Given the description of an element on the screen output the (x, y) to click on. 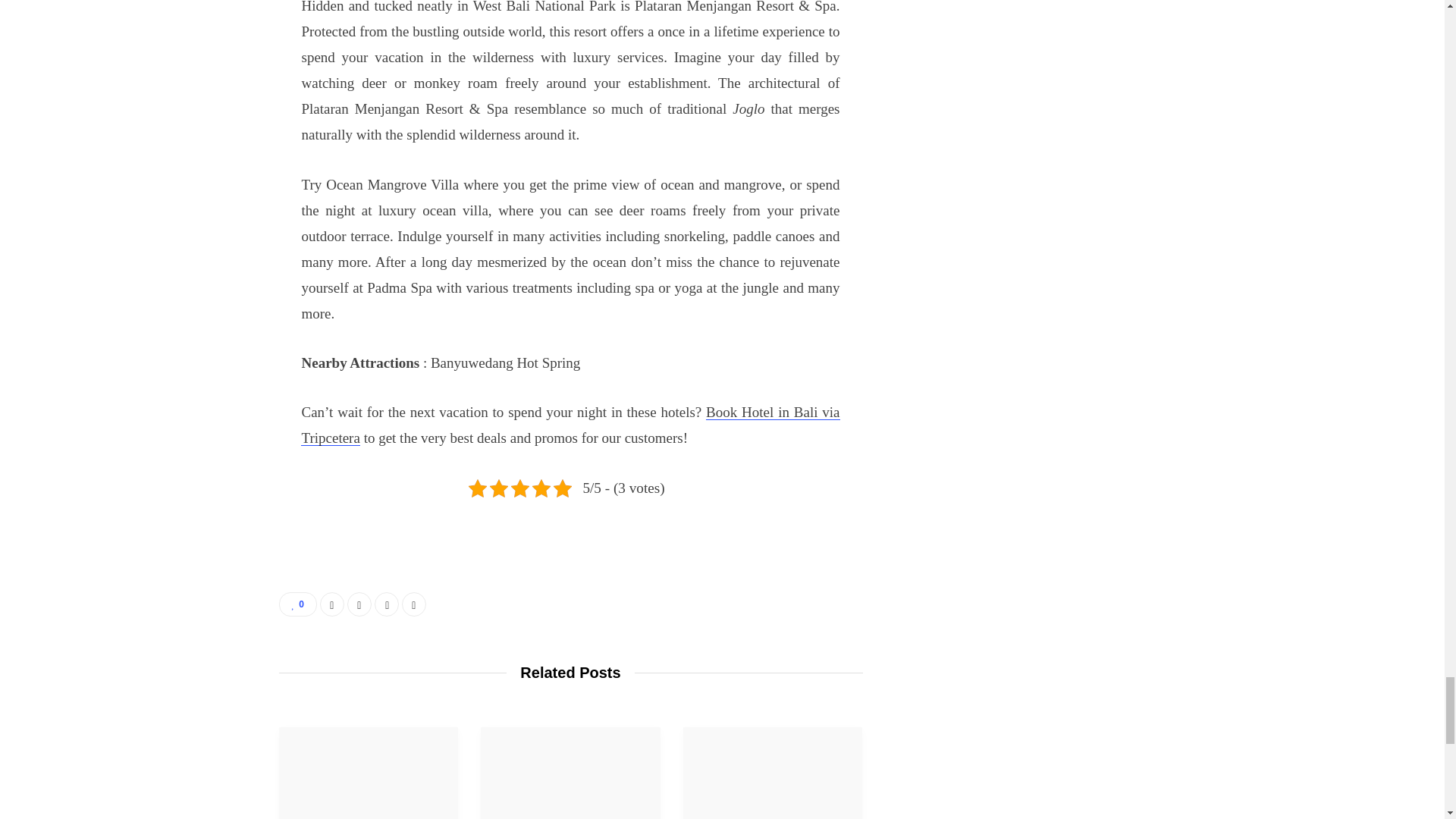
Share on Facebook (331, 604)
Share on Twitter (359, 604)
